Given the description of an element on the screen output the (x, y) to click on. 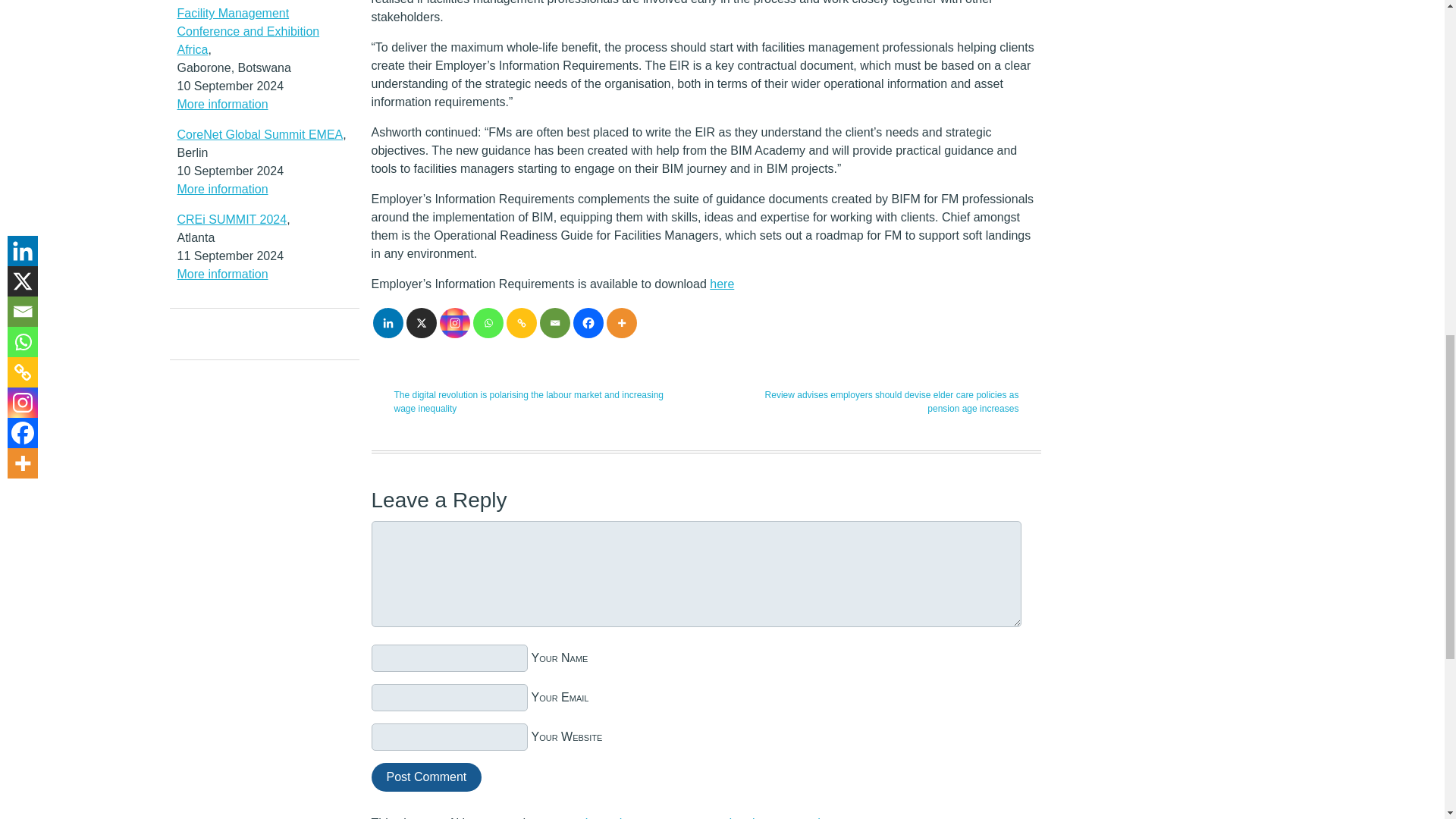
Post Comment (426, 776)
Instagram (454, 322)
Email (555, 322)
Facebook (588, 322)
Whatsapp (488, 322)
Copy Link (521, 322)
X (421, 322)
Linkedin (387, 322)
More (622, 322)
